Given the description of an element on the screen output the (x, y) to click on. 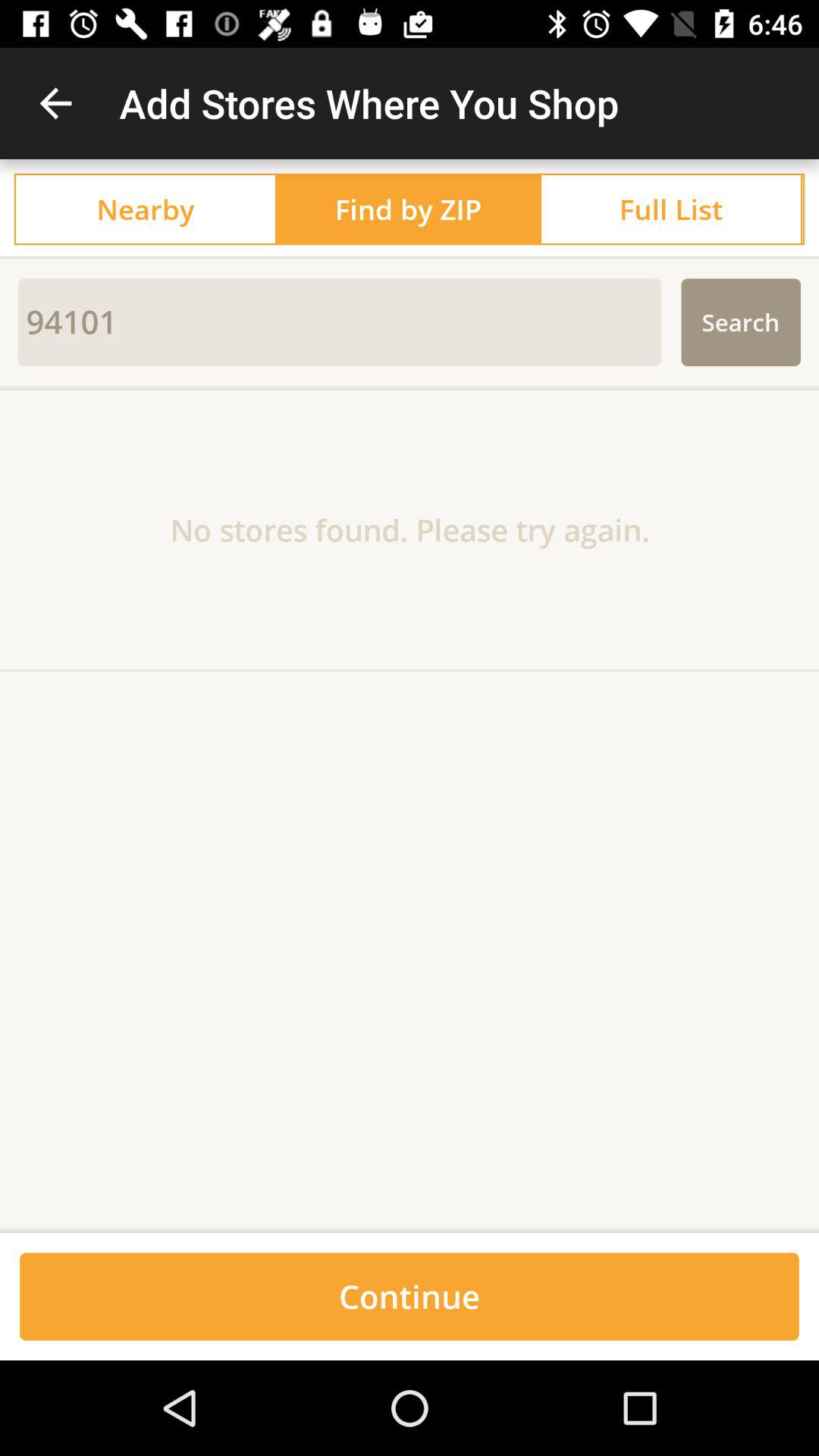
select the no stores found item (409, 529)
